Given the description of an element on the screen output the (x, y) to click on. 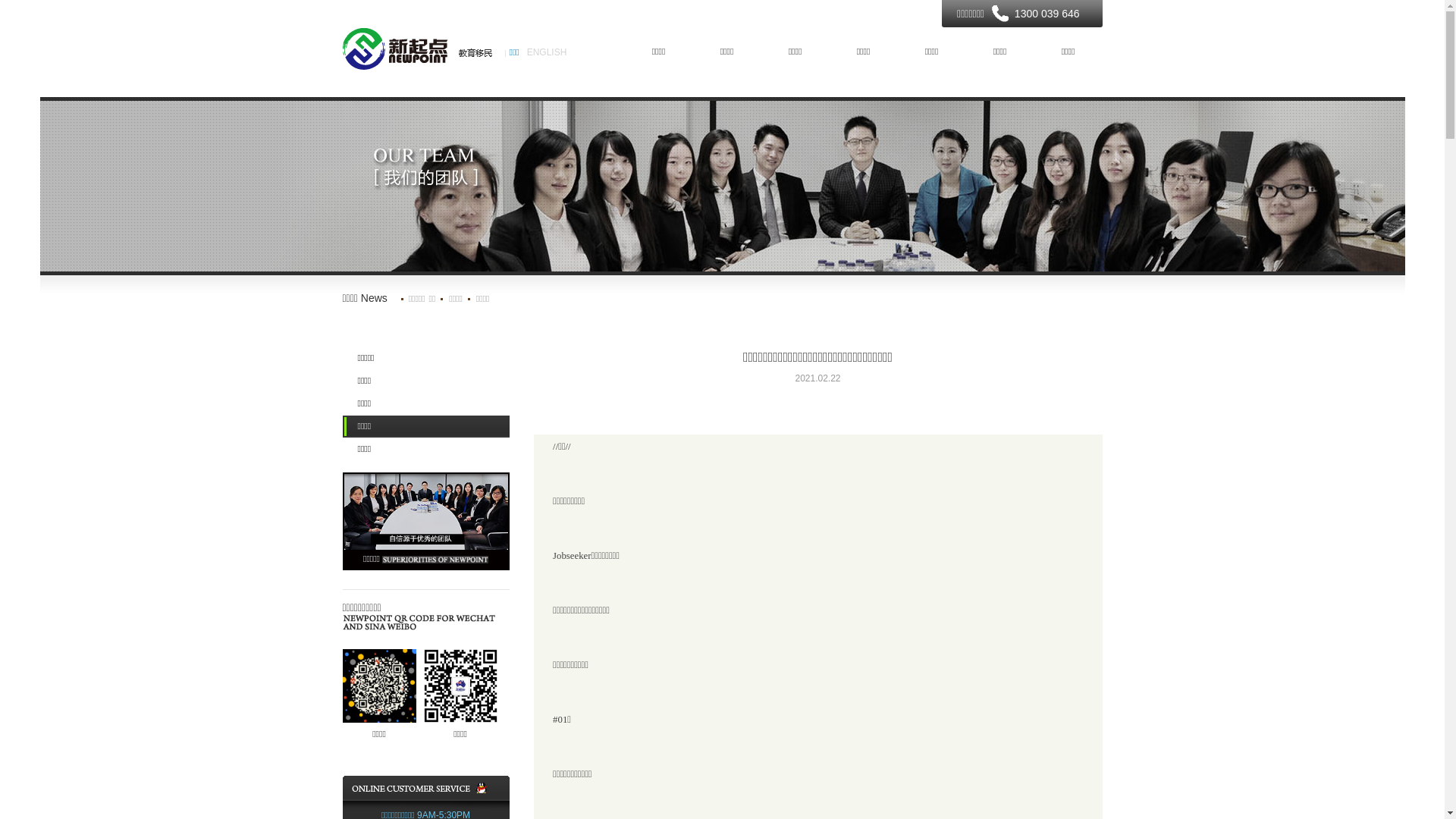
ENGLISH Element type: text (547, 52)
